Given the description of an element on the screen output the (x, y) to click on. 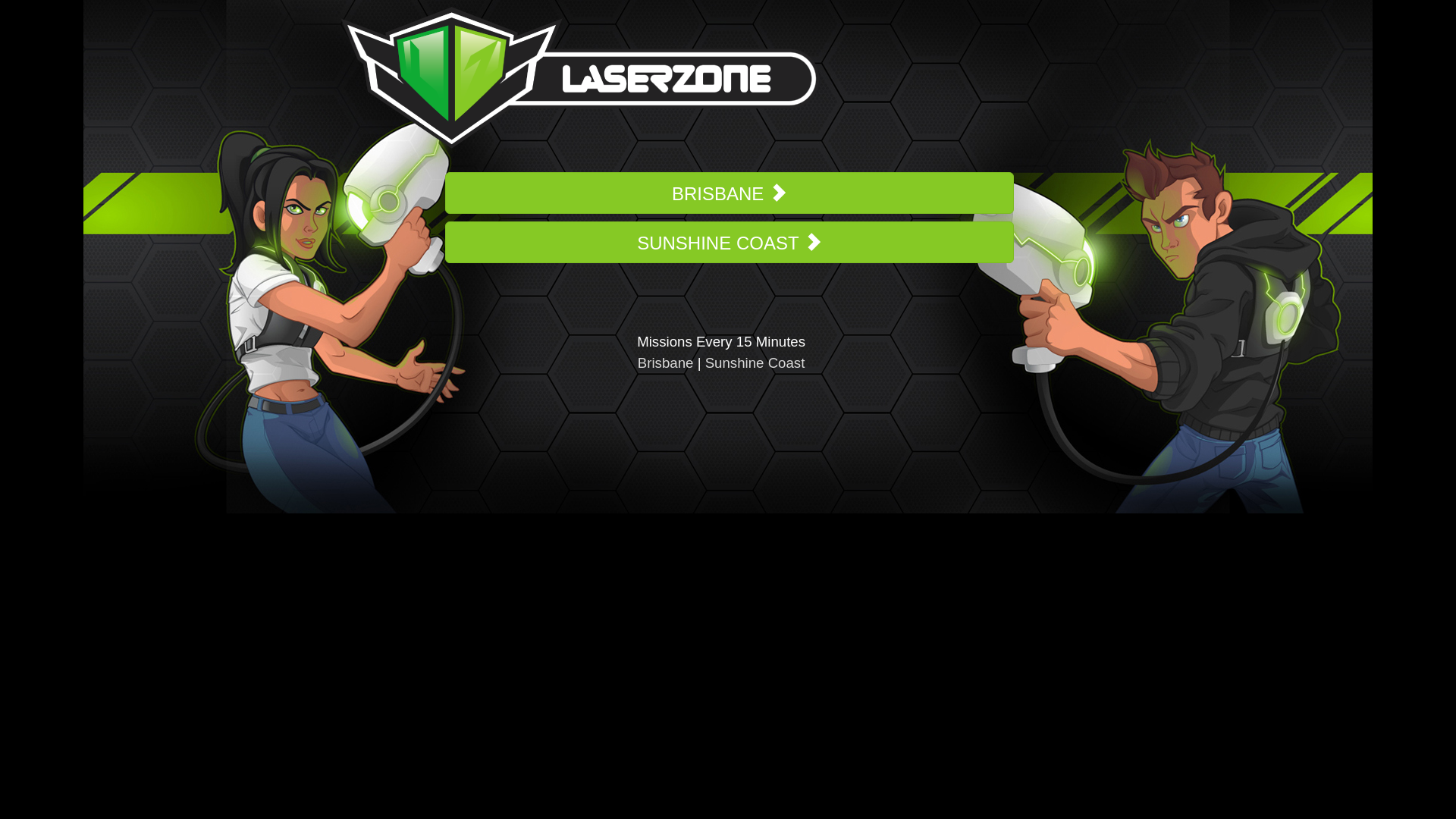
SUNSHINE COAST Element type: text (729, 242)
Sunshine Coast Element type: text (755, 362)
BRISBANE Element type: text (729, 192)
SUNSHINE COAST Element type: text (729, 241)
Brisbane Element type: text (665, 362)
BRISBANE Element type: text (729, 191)
